Given the description of an element on the screen output the (x, y) to click on. 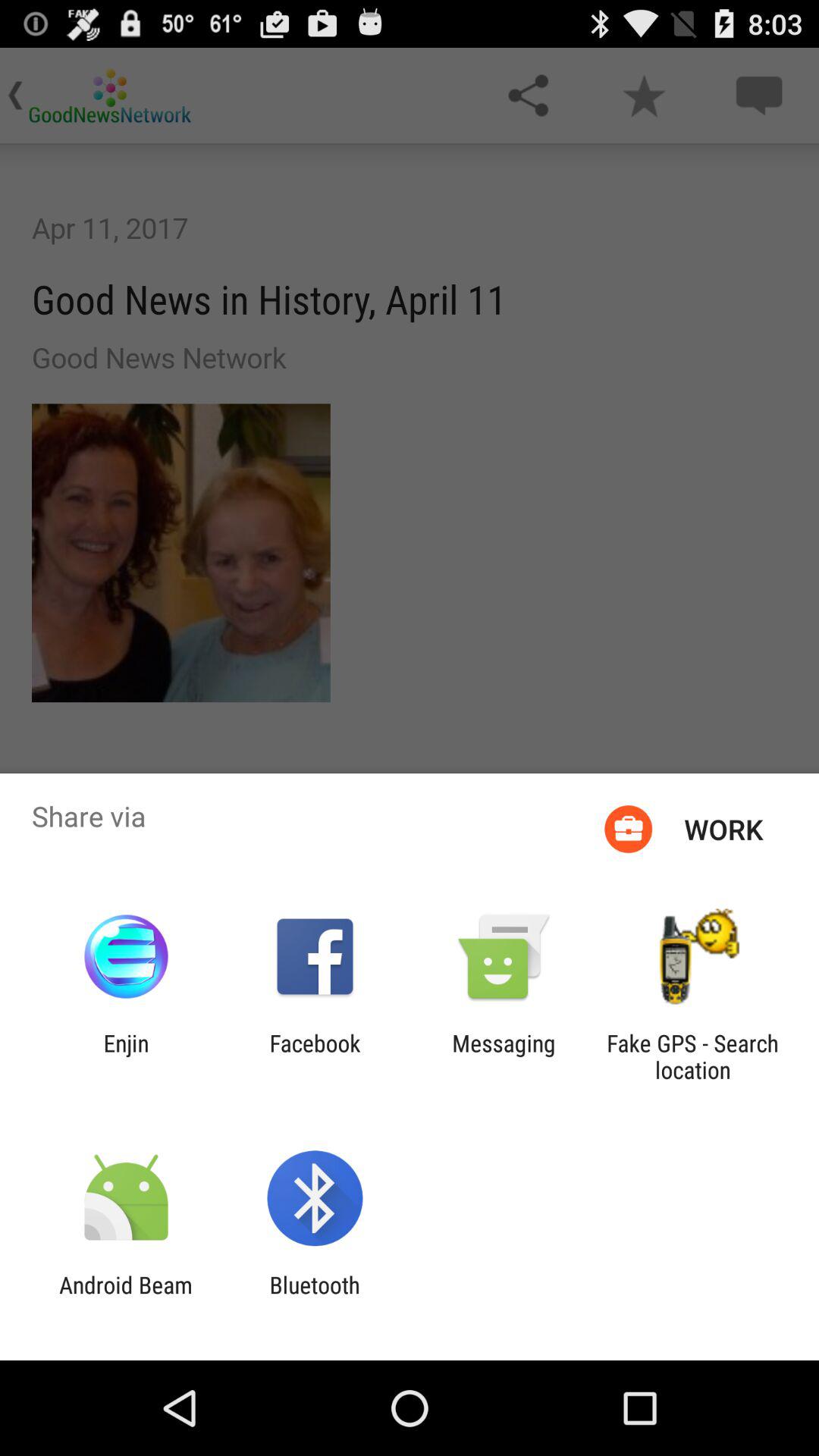
choose icon next to facebook icon (126, 1056)
